Given the description of an element on the screen output the (x, y) to click on. 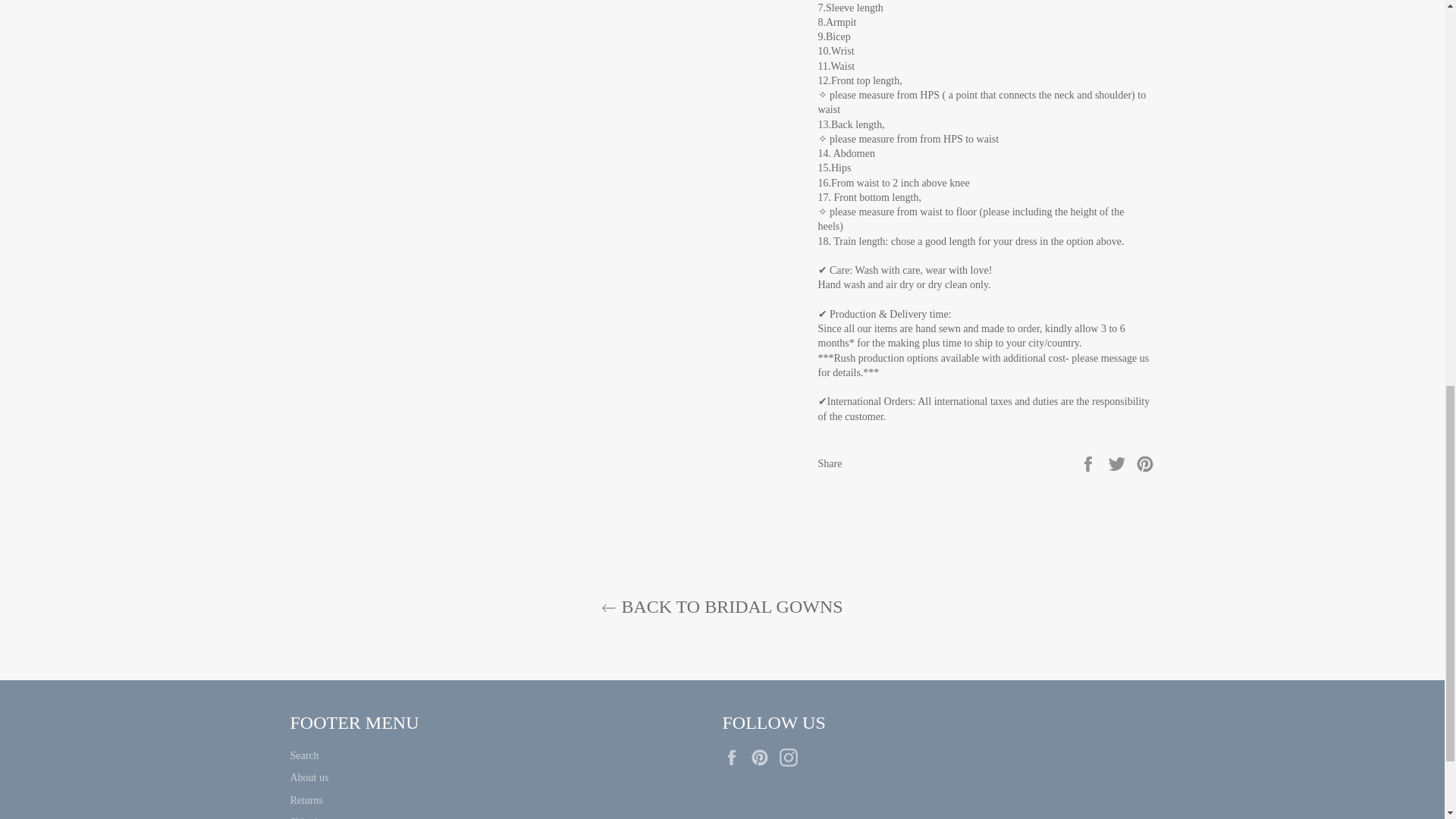
C'est Toi Bridal Atelier  on Instagram (791, 757)
Share on Facebook (1089, 462)
C'est Toi Bridal Atelier  on Pinterest (763, 757)
C'est Toi Bridal Atelier  on Facebook (735, 757)
Tweet on Twitter (1118, 462)
Pin on Pinterest (1144, 462)
